Given the description of an element on the screen output the (x, y) to click on. 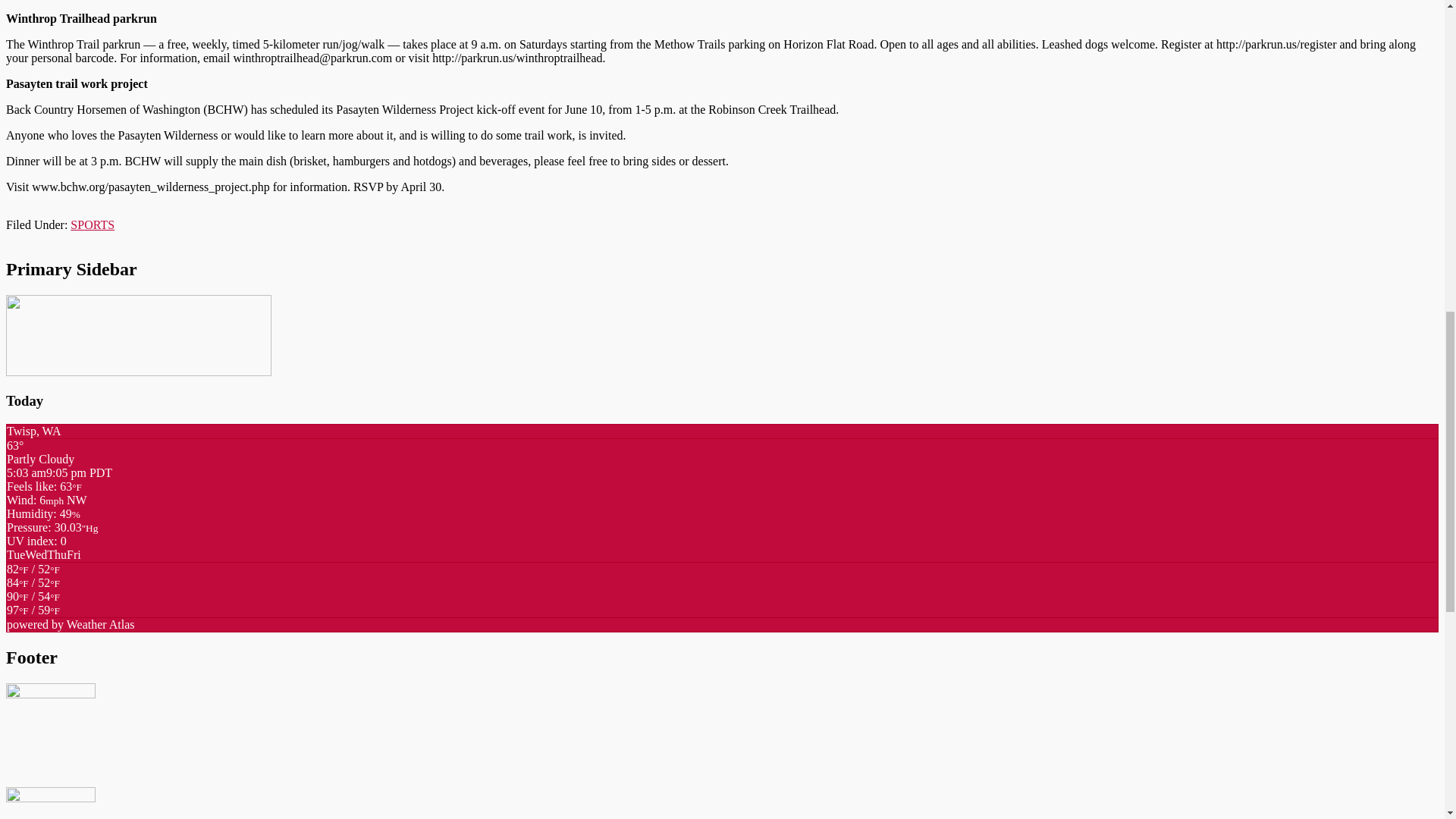
Sunny (33, 609)
Sunny (33, 575)
Mostly Sunny (33, 589)
Sunny (33, 602)
